Given the description of an element on the screen output the (x, y) to click on. 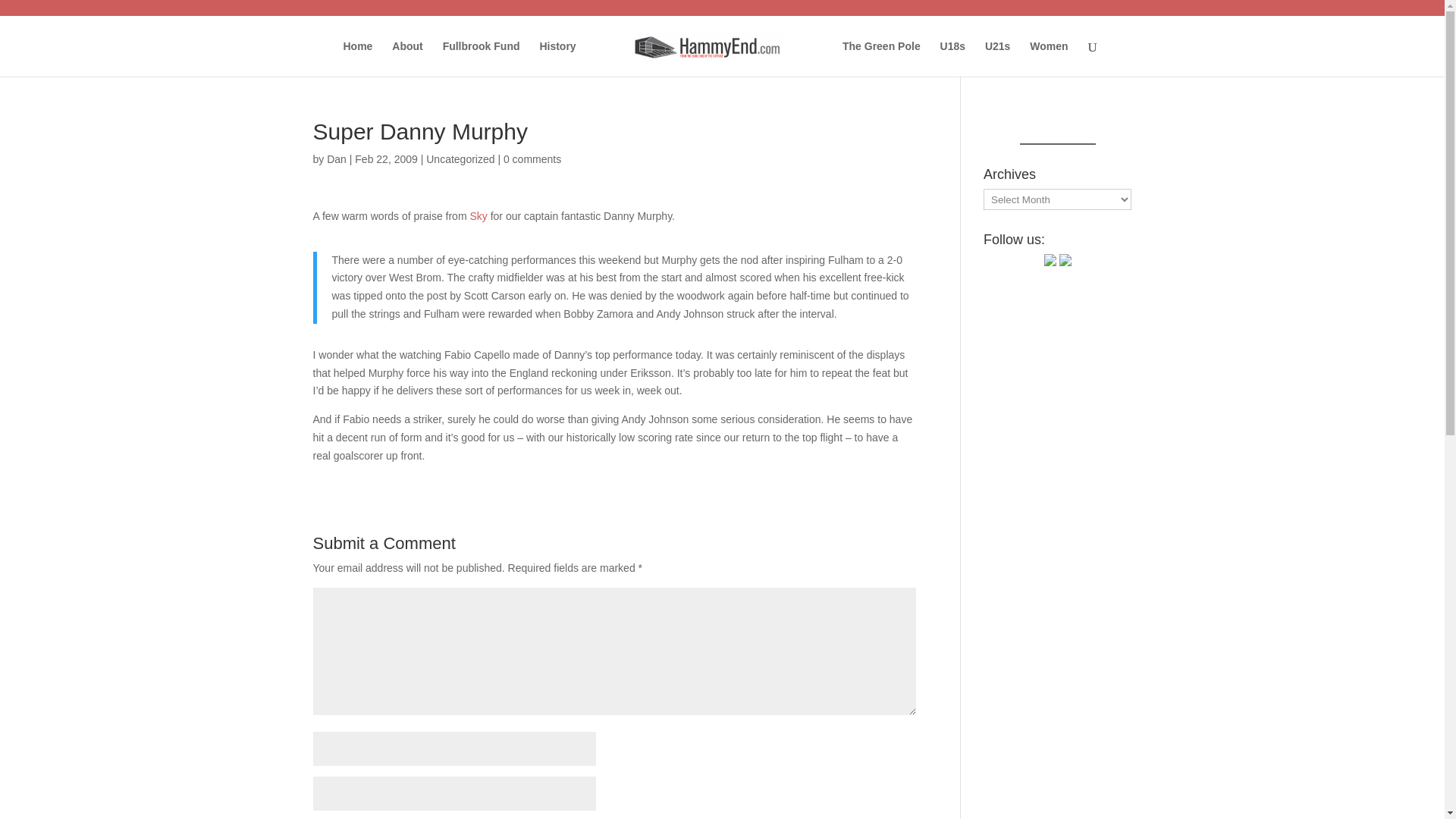
History (556, 58)
Fullbrook Fund (480, 58)
Posts by Dan (336, 159)
